Given the description of an element on the screen output the (x, y) to click on. 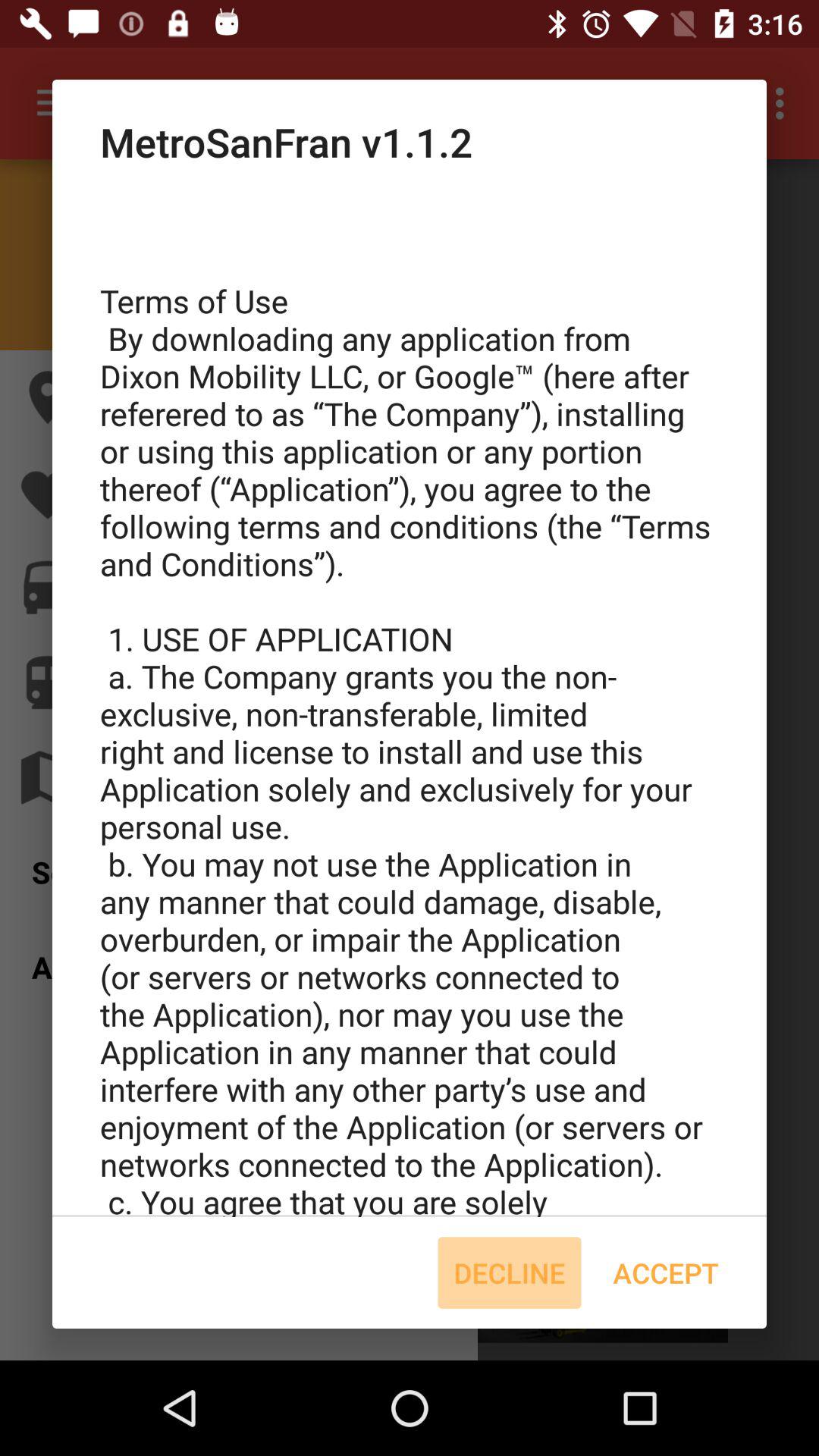
choose the item next to decline item (665, 1272)
